Given the description of an element on the screen output the (x, y) to click on. 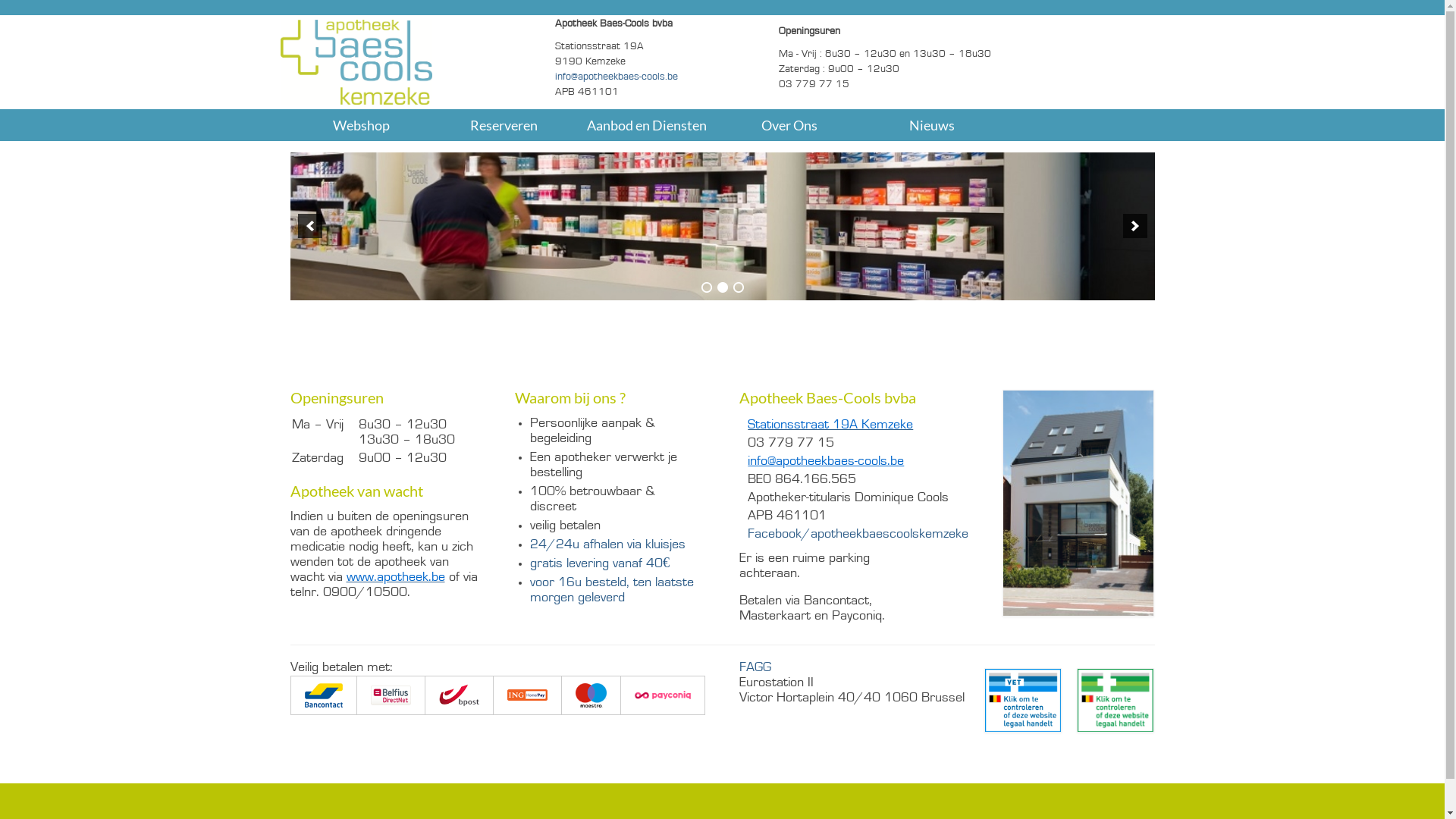
Stationsstraat 19A Kemzeke Element type: text (830, 425)
Reserveren Element type: text (504, 125)
Facebook/apotheekbaescoolskemzeke Element type: text (857, 534)
www.apotheek.be Element type: text (394, 577)
Webshop Element type: text (360, 125)
24/24u afhalen via kluisjes Element type: text (607, 545)
info@apotheekbaes-cools.be Element type: text (825, 461)
info@apotheekbaes-cools.be Element type: text (616, 76)
Aanbod en Diensten Element type: text (646, 125)
voor 16u besteld, ten laatste morgen geleverd Element type: text (611, 590)
FAGG Element type: text (755, 668)
Over Ons Element type: text (789, 125)
Nieuws Element type: text (931, 125)
